Given the description of an element on the screen output the (x, y) to click on. 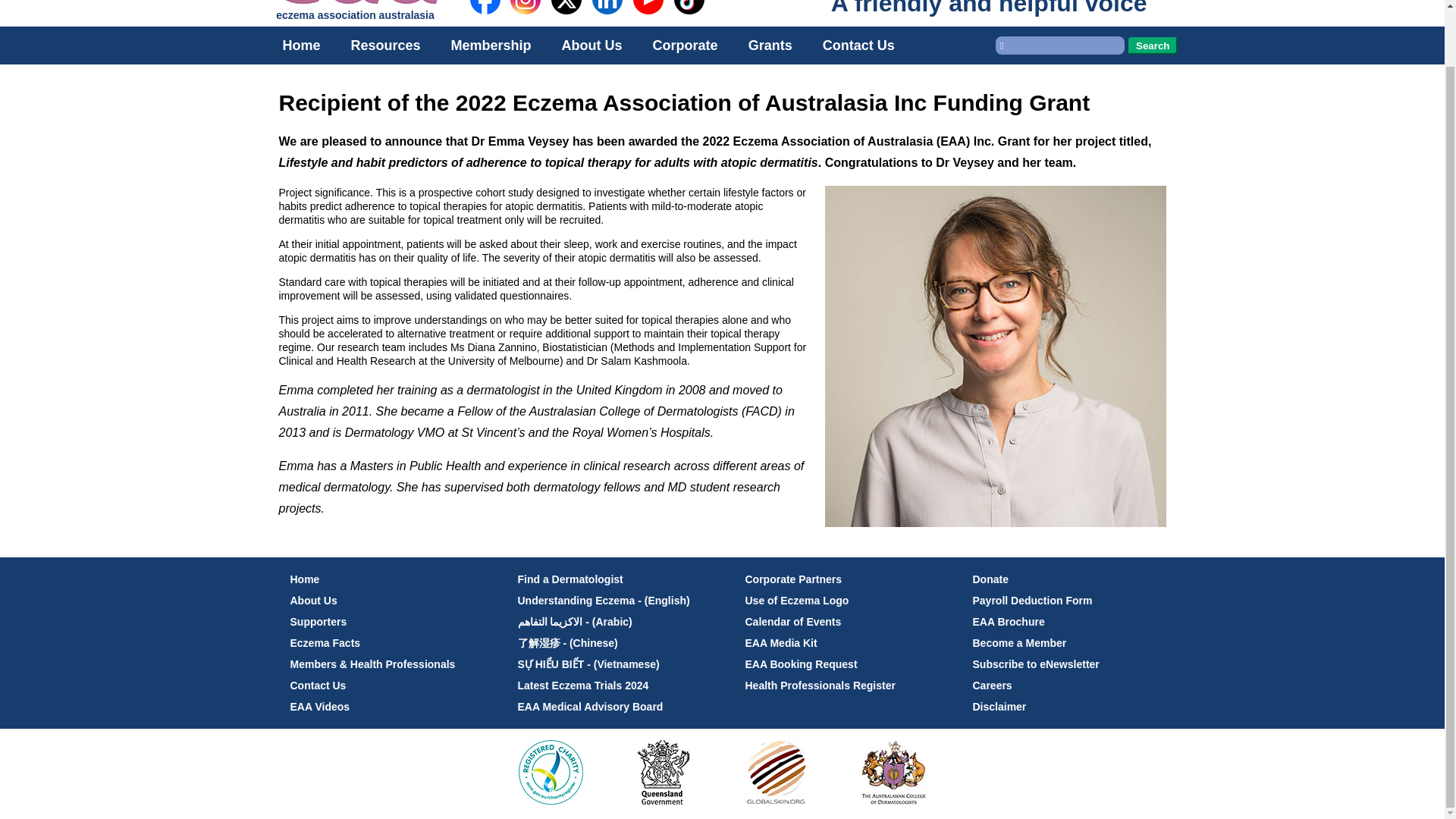
Eczema Association of Australasia Inc Instagram (525, 7)
Eczema Association of Australasia Inc Twitter (566, 18)
Eczema Association of Australasia Inc Twitter (565, 7)
Eczema Association of Australasia Inc Instagram (525, 18)
Eczema Association of Australasia Inc Linkedin (607, 18)
Search (1152, 45)
Eczema Association of Australasia Inc Facebook (485, 7)
Eczema Association of Australasia Inc Linkedin (607, 7)
Eczema Association of Australasia Inc Youtube (647, 18)
Resources (385, 45)
Membership (491, 45)
Eczema Association of Australasia Inc Tiktok (688, 18)
About Us (592, 45)
Eczema Association of Australasia Inc Logo (354, 2)
Corporate (685, 45)
